Given the description of an element on the screen output the (x, y) to click on. 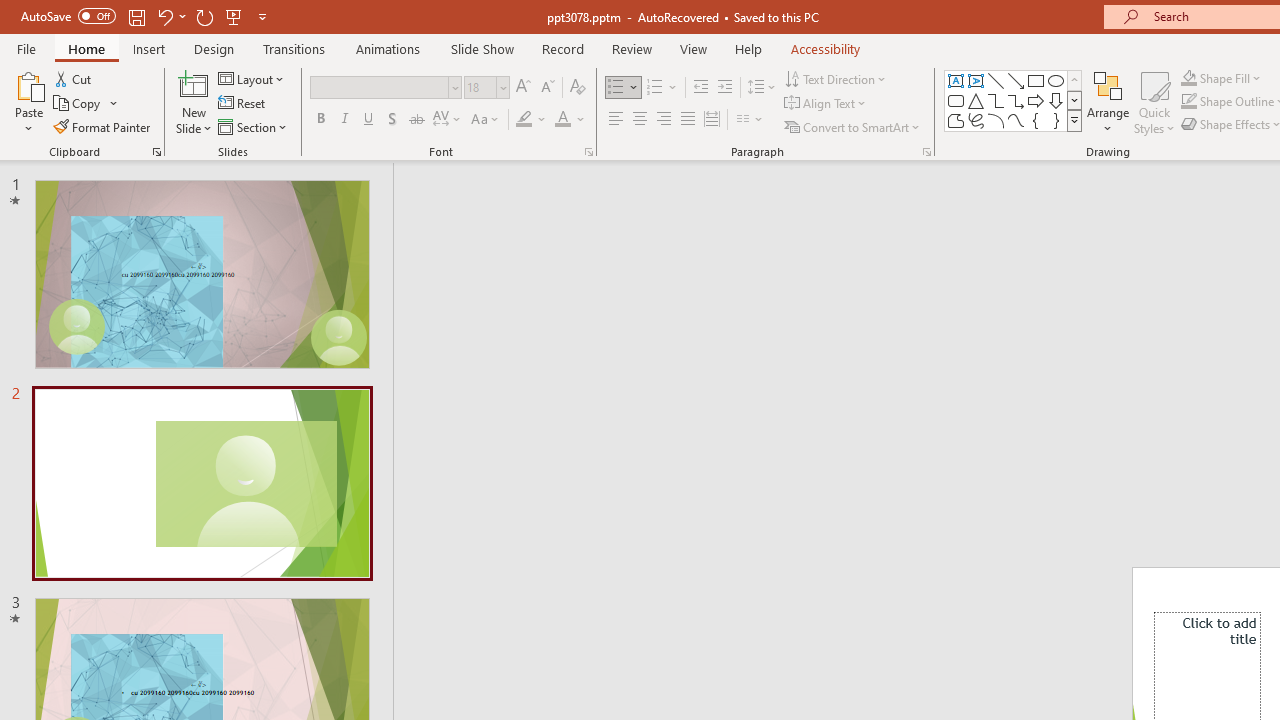
Numbering (654, 87)
Font (379, 87)
AutomationID: ShapesInsertGallery (1014, 100)
View (693, 48)
Arrange (1108, 102)
Align Left (616, 119)
New Slide (193, 84)
Rectangle (1035, 80)
Text Box (955, 80)
New Slide (193, 102)
Reset (243, 103)
